Given the description of an element on the screen output the (x, y) to click on. 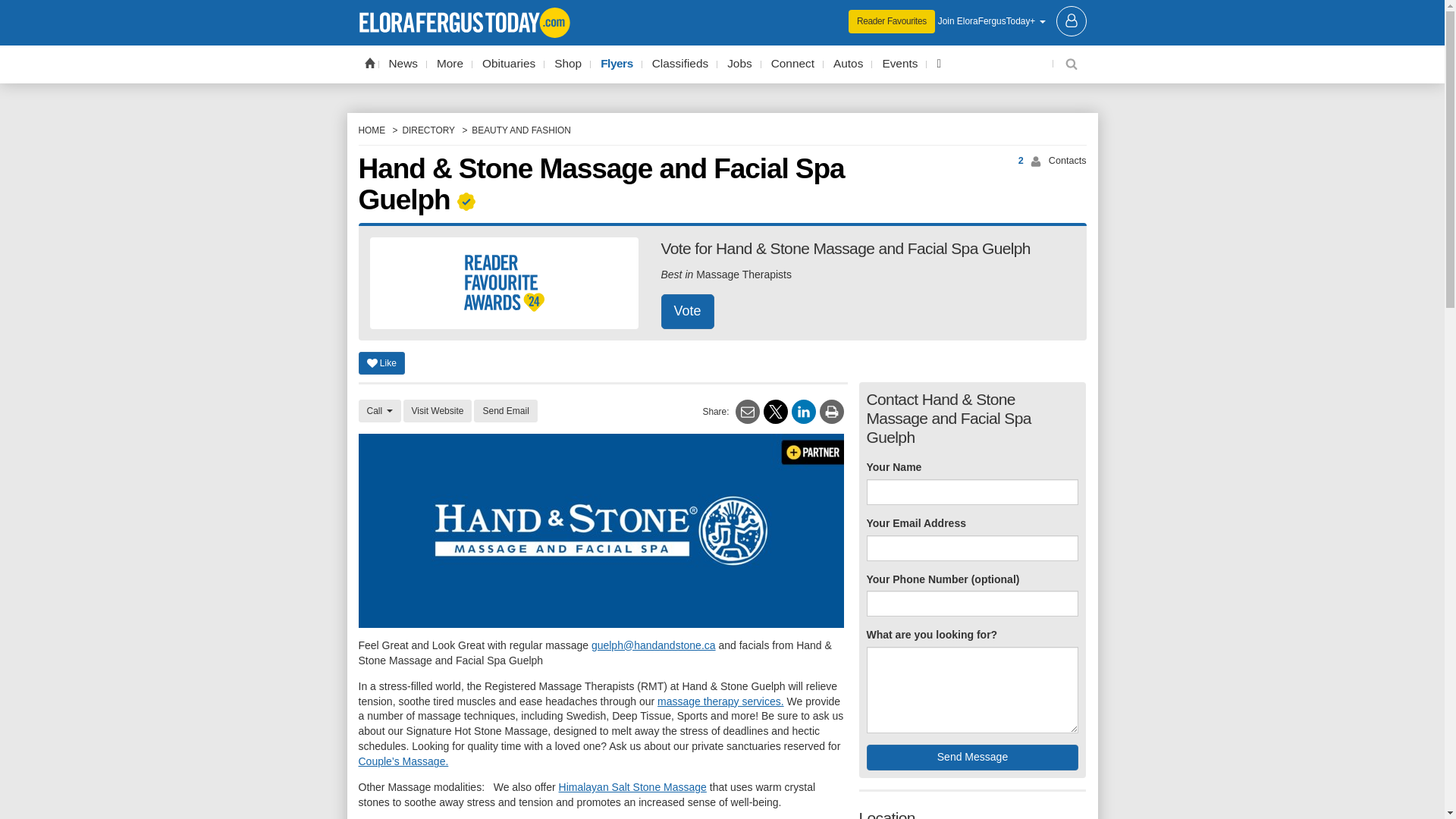
Like this organization (381, 363)
2 Contacts (1003, 160)
Home (368, 62)
Reader Favourites (891, 21)
